Given the description of an element on the screen output the (x, y) to click on. 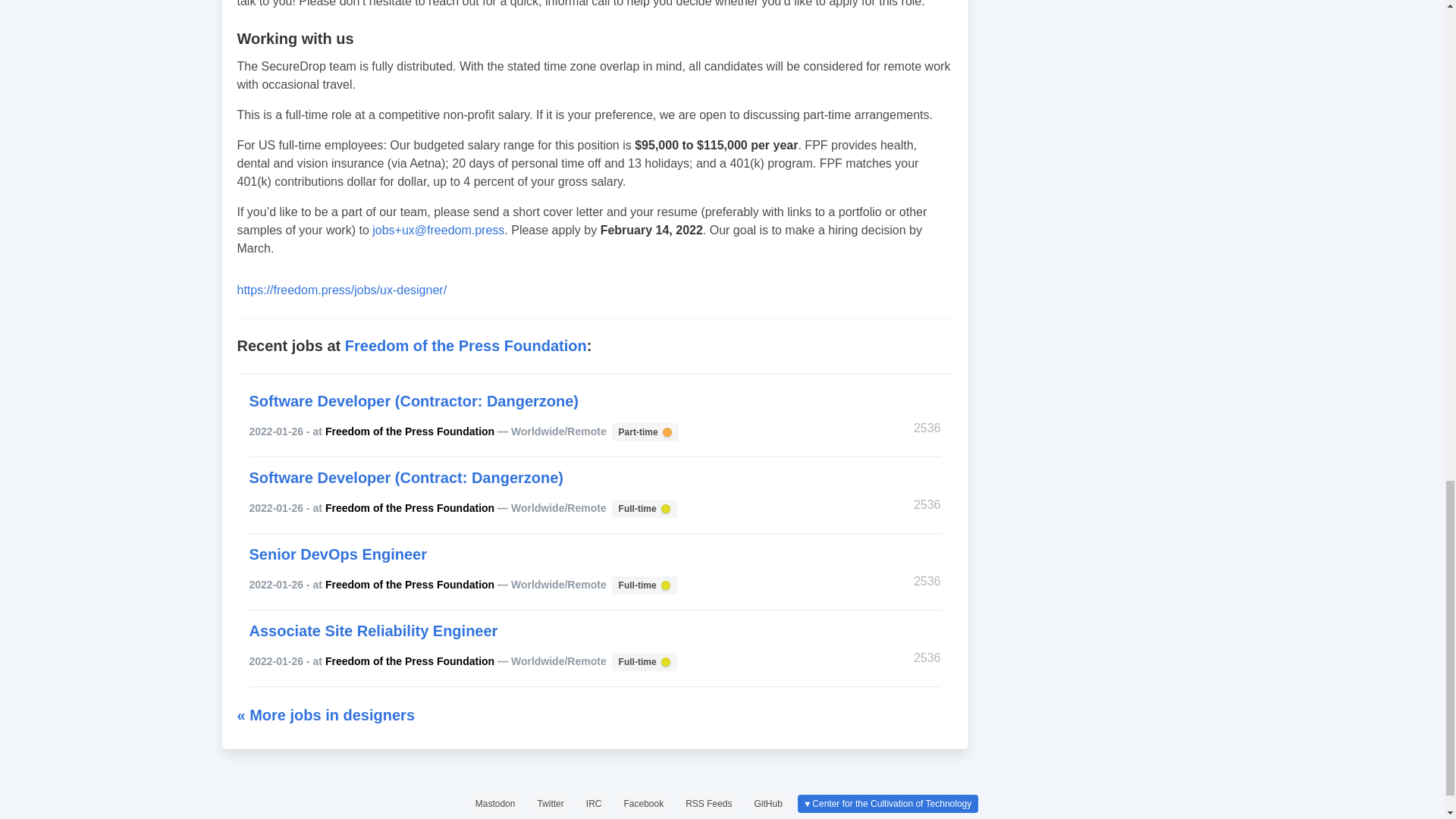
Freedom of the Press Foundation (409, 508)
Freedom of the Press Foundation (644, 431)
Associate Site Reliability Engineer (409, 584)
Freedom of the Press Foundation (643, 584)
Senior DevOps Engineer (643, 508)
Senior DevOps Engineer (643, 661)
